Given the description of an element on the screen output the (x, y) to click on. 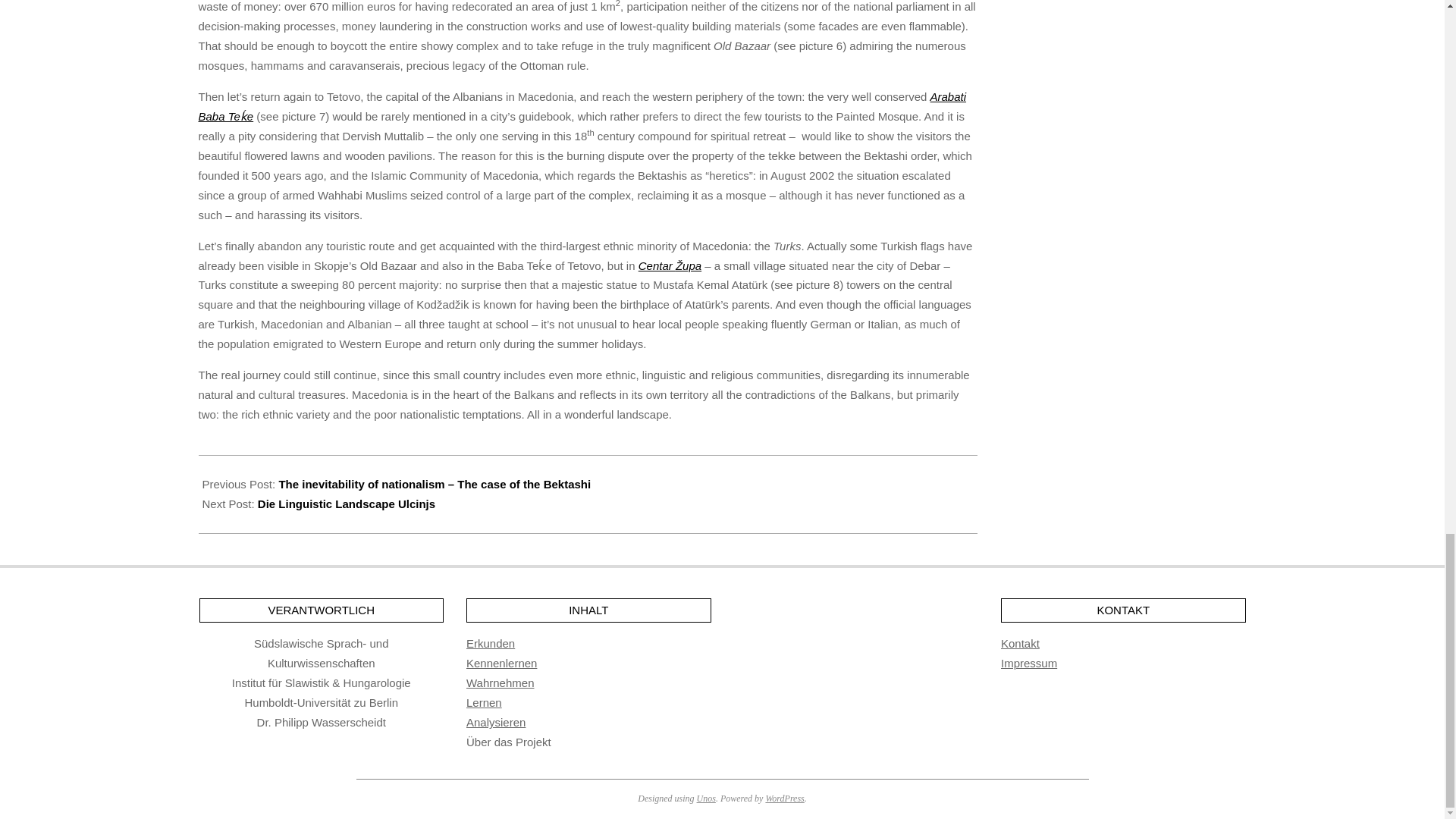
WordPress (784, 798)
Die Linguistic Landscape Ulcinjs (346, 503)
Analysieren (495, 721)
Unos (706, 798)
Unos WordPress Theme (706, 798)
Impressum (1029, 662)
Wahrnehmen (499, 682)
Erkunden (490, 643)
Kennenlernen (501, 662)
Kontakt (1020, 643)
Lernen (483, 702)
